Given the description of an element on the screen output the (x, y) to click on. 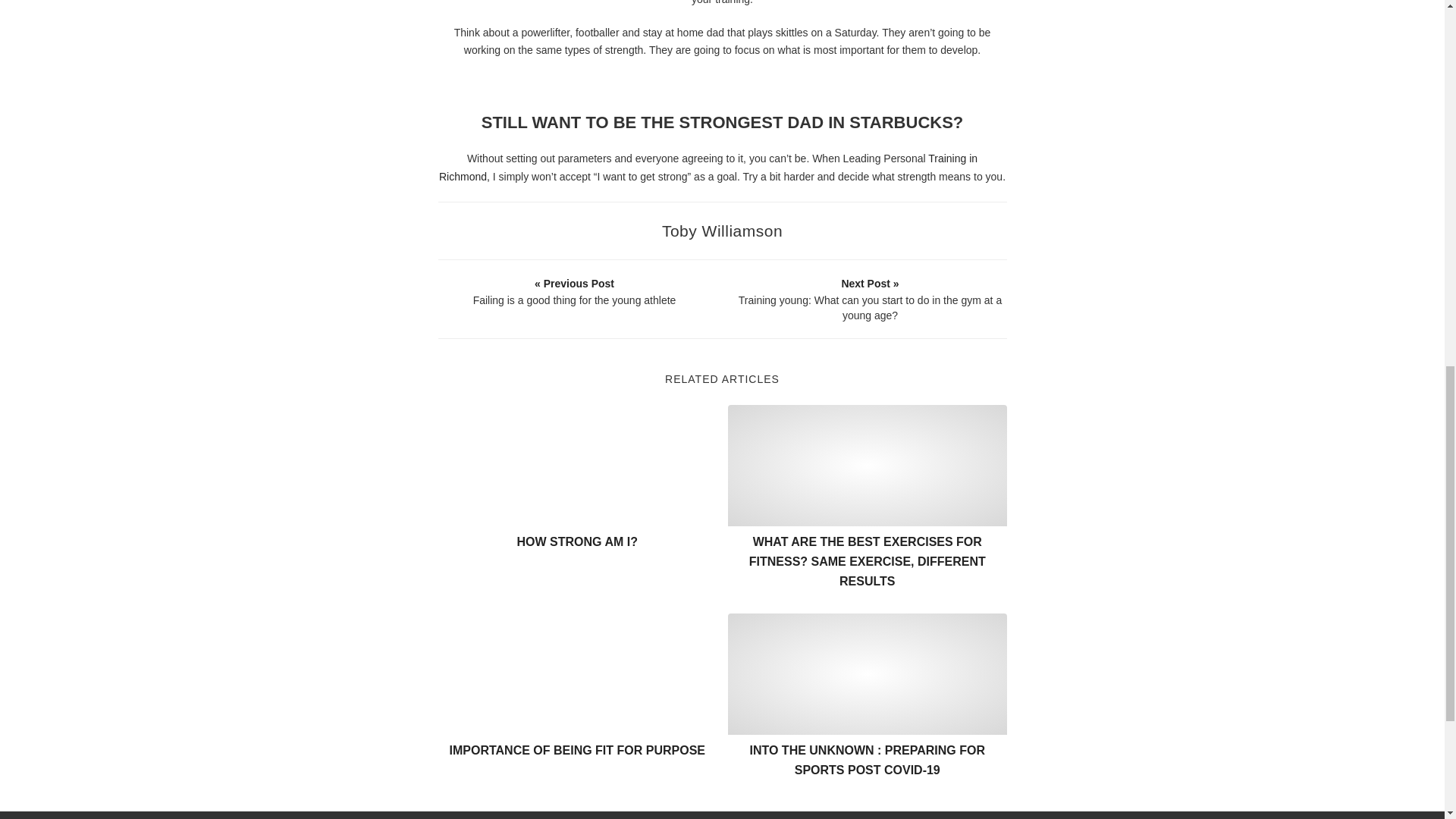
HOW STRONG AM I? (576, 541)
Failing is a good thing for the young athlete (574, 291)
How strong am I? (577, 465)
IMPORTANCE OF BEING FIT FOR PURPOSE (576, 749)
Training in Richmond, (707, 167)
Into the unknown : Preparing for sports post Covid-19 (867, 673)
Importance of being fit for purpose (577, 673)
INTO THE UNKNOWN : PREPARING FOR SPORTS POST COVID-19 (867, 759)
Toby Williamson (722, 230)
